Given the description of an element on the screen output the (x, y) to click on. 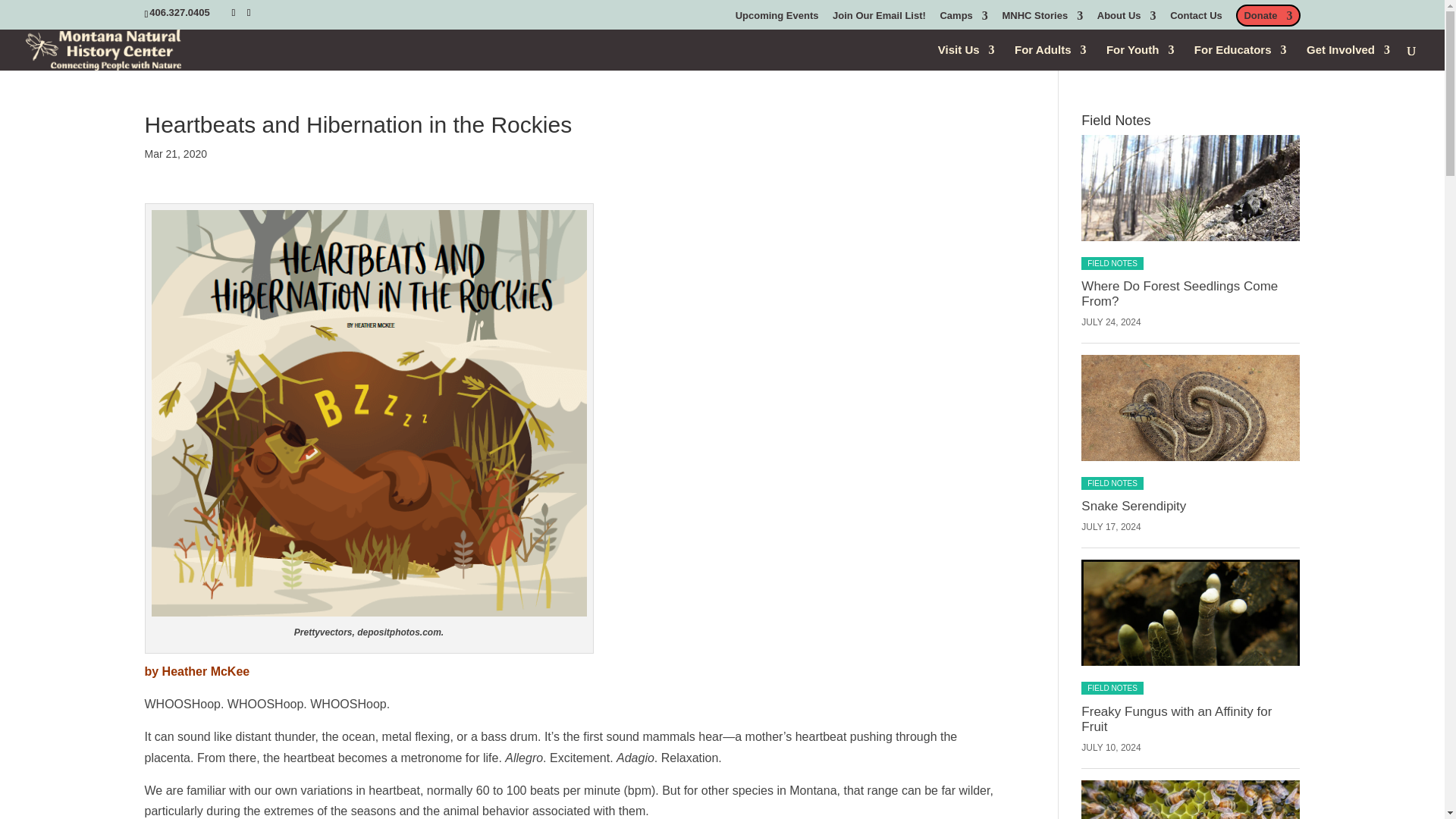
Visit Us (965, 56)
Camps (963, 18)
Join Our Email List! (879, 18)
About Us (1126, 18)
Contact Us (1196, 18)
Upcoming Events (776, 18)
Donate (1267, 18)
MNHC Stories (1042, 18)
